Given the description of an element on the screen output the (x, y) to click on. 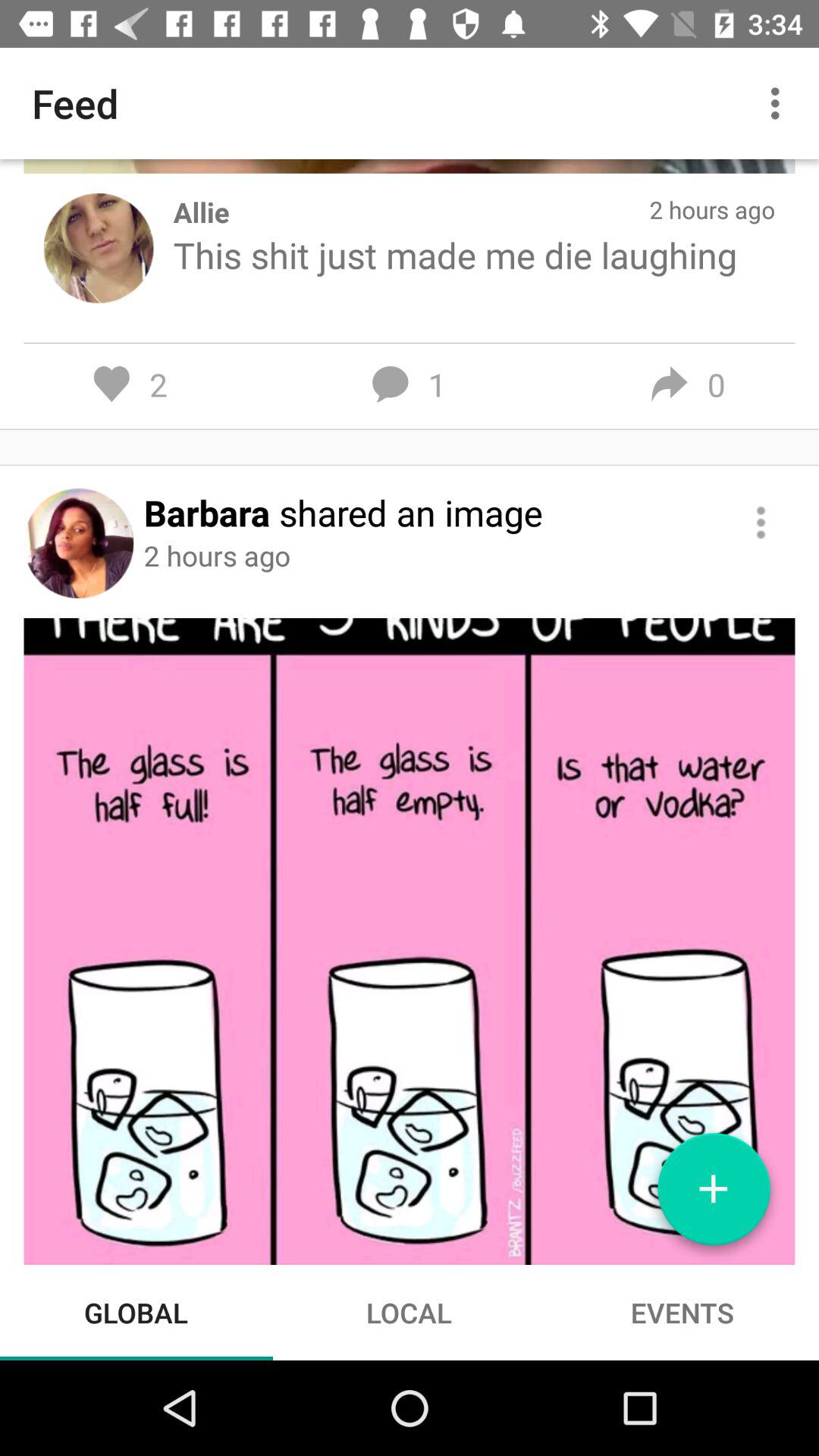
add new post (713, 1194)
